Given the description of an element on the screen output the (x, y) to click on. 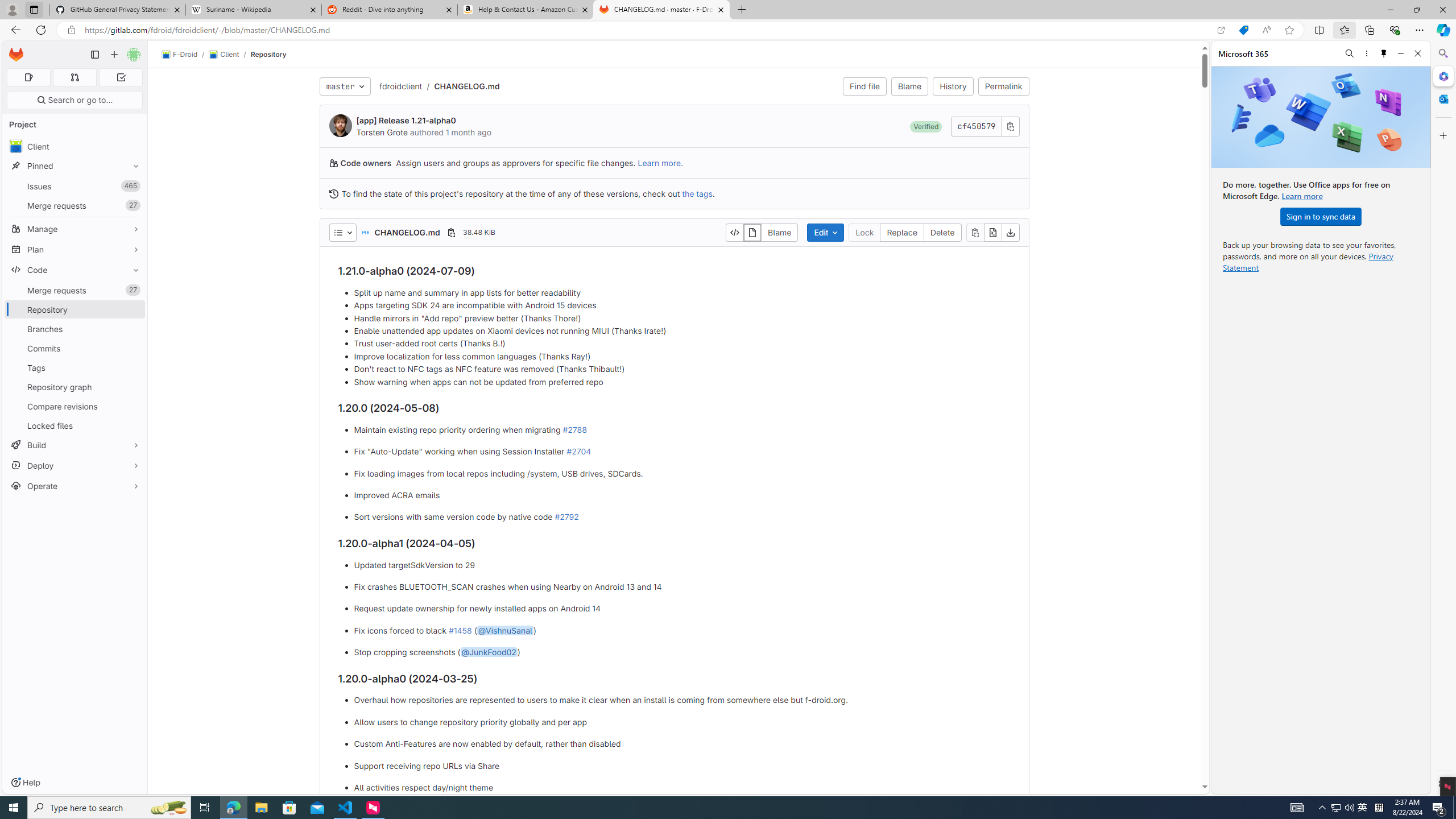
Sign in to sync data (1320, 216)
fdroidclient (400, 85)
Merge requests 27 (74, 289)
Updated targetSdkVersion to 29 (681, 564)
Build (74, 444)
Find file (864, 85)
Pin Locked files (132, 425)
Create new... (113, 54)
#2704 (578, 451)
Commits (74, 348)
History (953, 85)
Issues 465 (74, 185)
